Given the description of an element on the screen output the (x, y) to click on. 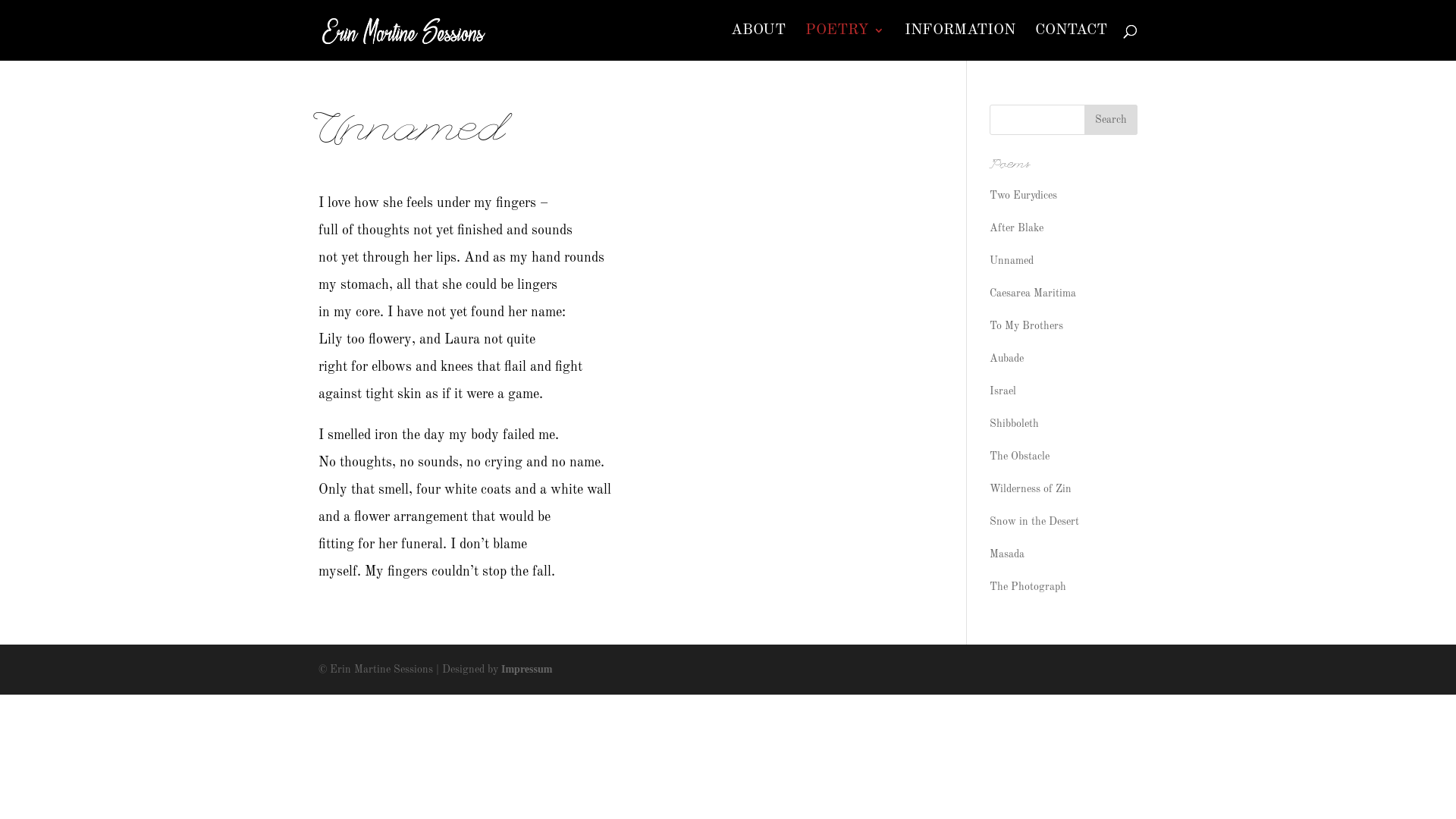
The Photograph Element type: text (1027, 586)
Two Eurydices Element type: text (1023, 195)
POETRY Element type: text (844, 42)
Aubade Element type: text (1006, 358)
Search Element type: text (1110, 119)
INFORMATION Element type: text (958, 42)
The Obstacle Element type: text (1019, 456)
Masada Element type: text (1006, 554)
Israel Element type: text (1002, 390)
After Blake Element type: text (1016, 227)
Unnamed Element type: text (1011, 260)
ABOUT Element type: text (758, 42)
Snow in the Desert Element type: text (1034, 521)
Shibboleth Element type: text (1013, 423)
To My Brothers Element type: text (1026, 325)
CONTACT Element type: text (1071, 42)
Caesarea Maritima Element type: text (1032, 293)
Wilderness of Zin Element type: text (1030, 488)
Impressum Element type: text (526, 668)
